Given the description of an element on the screen output the (x, y) to click on. 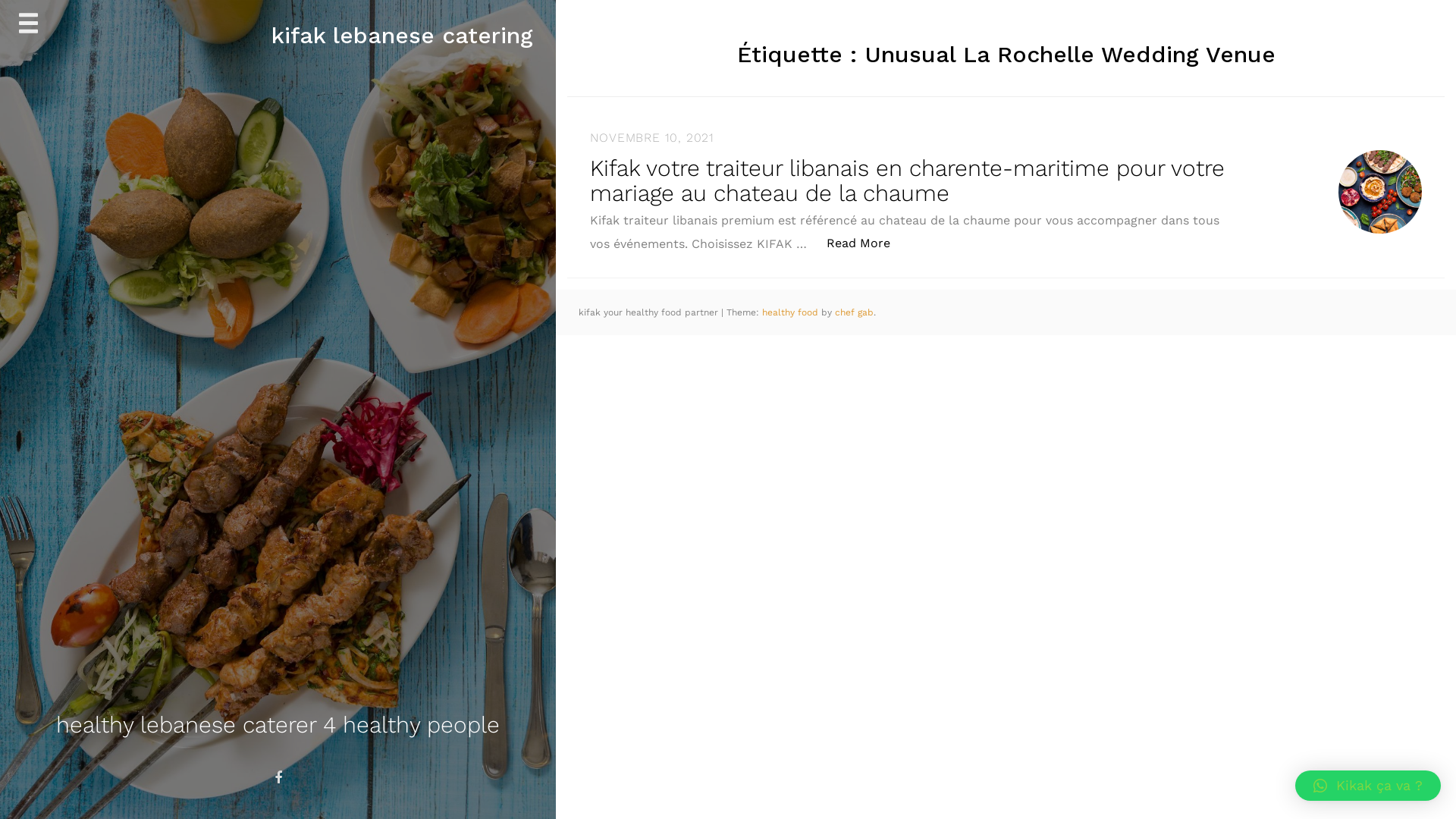
healthy food Element type: text (791, 312)
chef gab Element type: text (853, 312)
Facebook Element type: hover (277, 777)
